Given the description of an element on the screen output the (x, y) to click on. 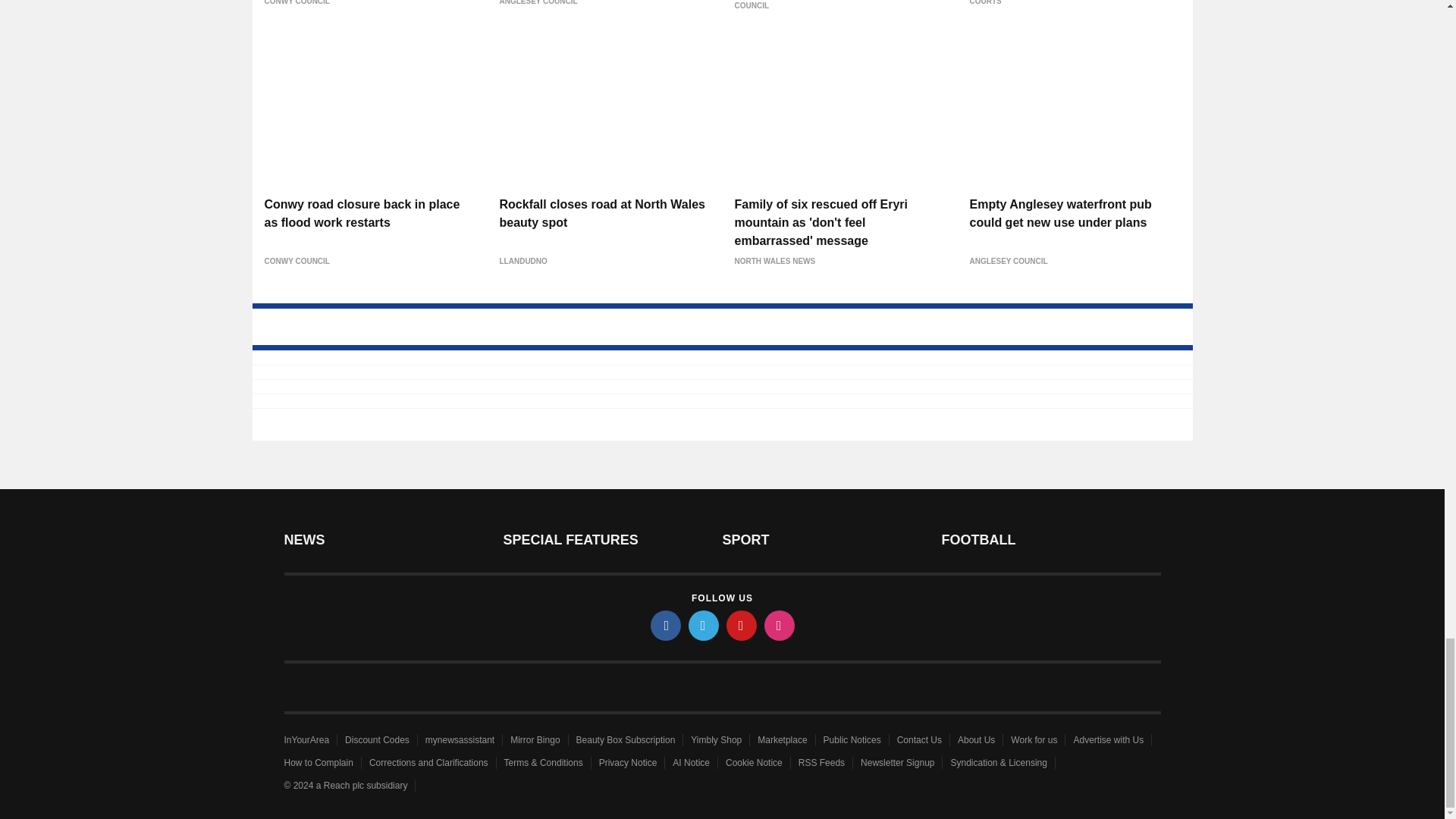
instagram (779, 625)
pinterest (741, 625)
twitter (703, 625)
facebook (665, 625)
